Given the description of an element on the screen output the (x, y) to click on. 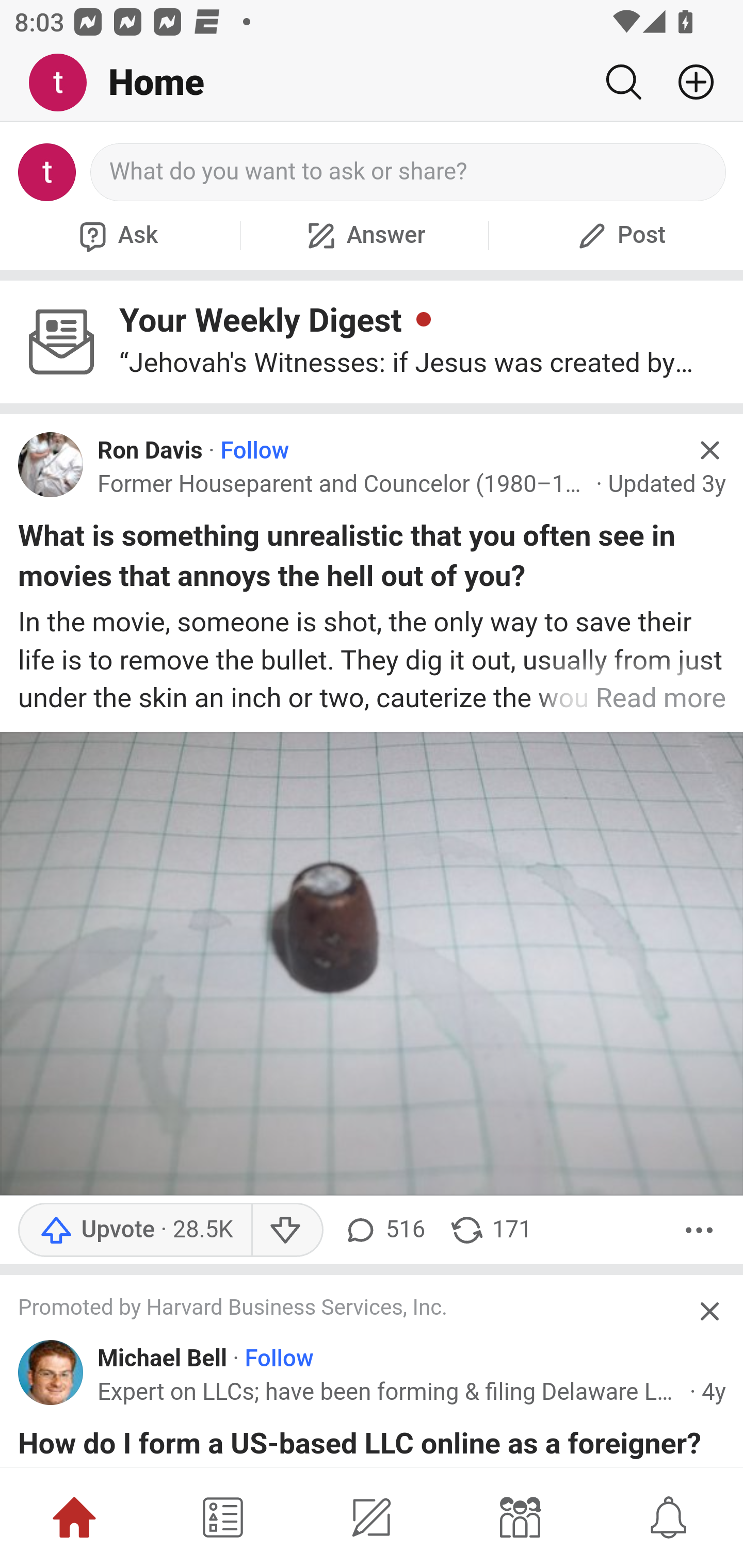
Me Home Search Add (371, 82)
Me (64, 83)
Search (623, 82)
Add (688, 82)
